Given the description of an element on the screen output the (x, y) to click on. 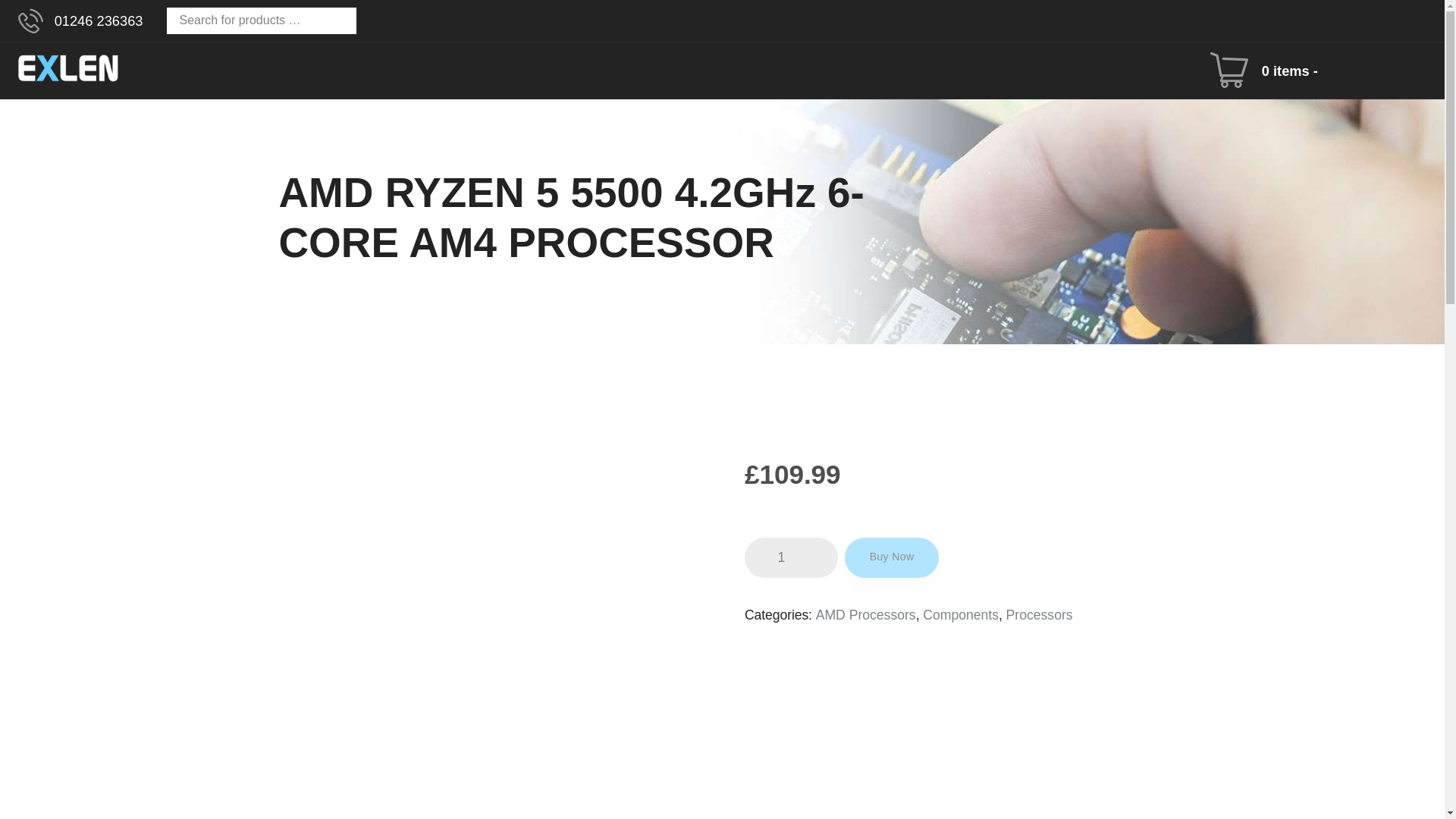
1 (791, 557)
01246 236363 (79, 21)
